Given the description of an element on the screen output the (x, y) to click on. 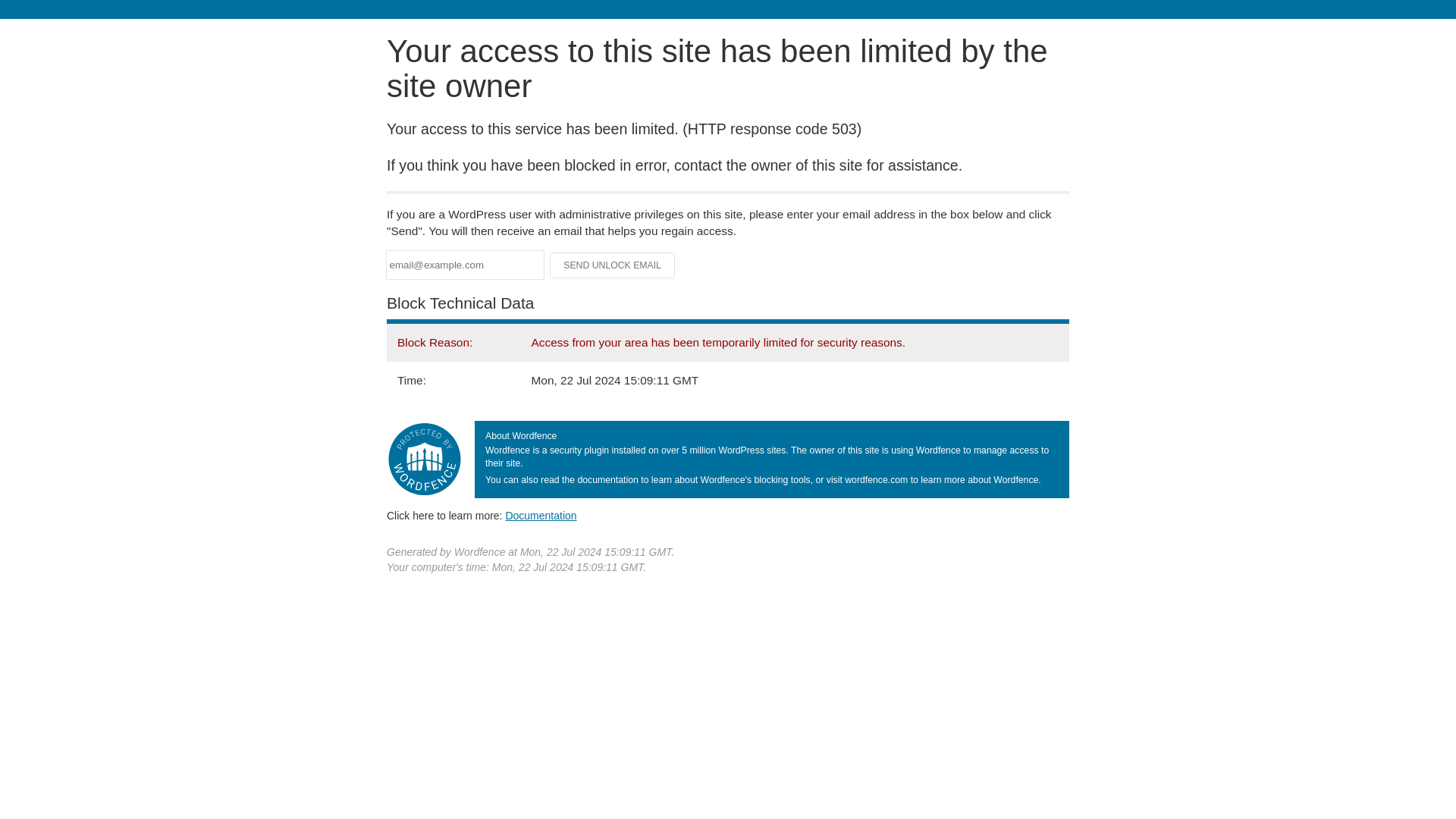
Documentation (540, 515)
Send Unlock Email (612, 265)
Send Unlock Email (612, 265)
